Given the description of an element on the screen output the (x, y) to click on. 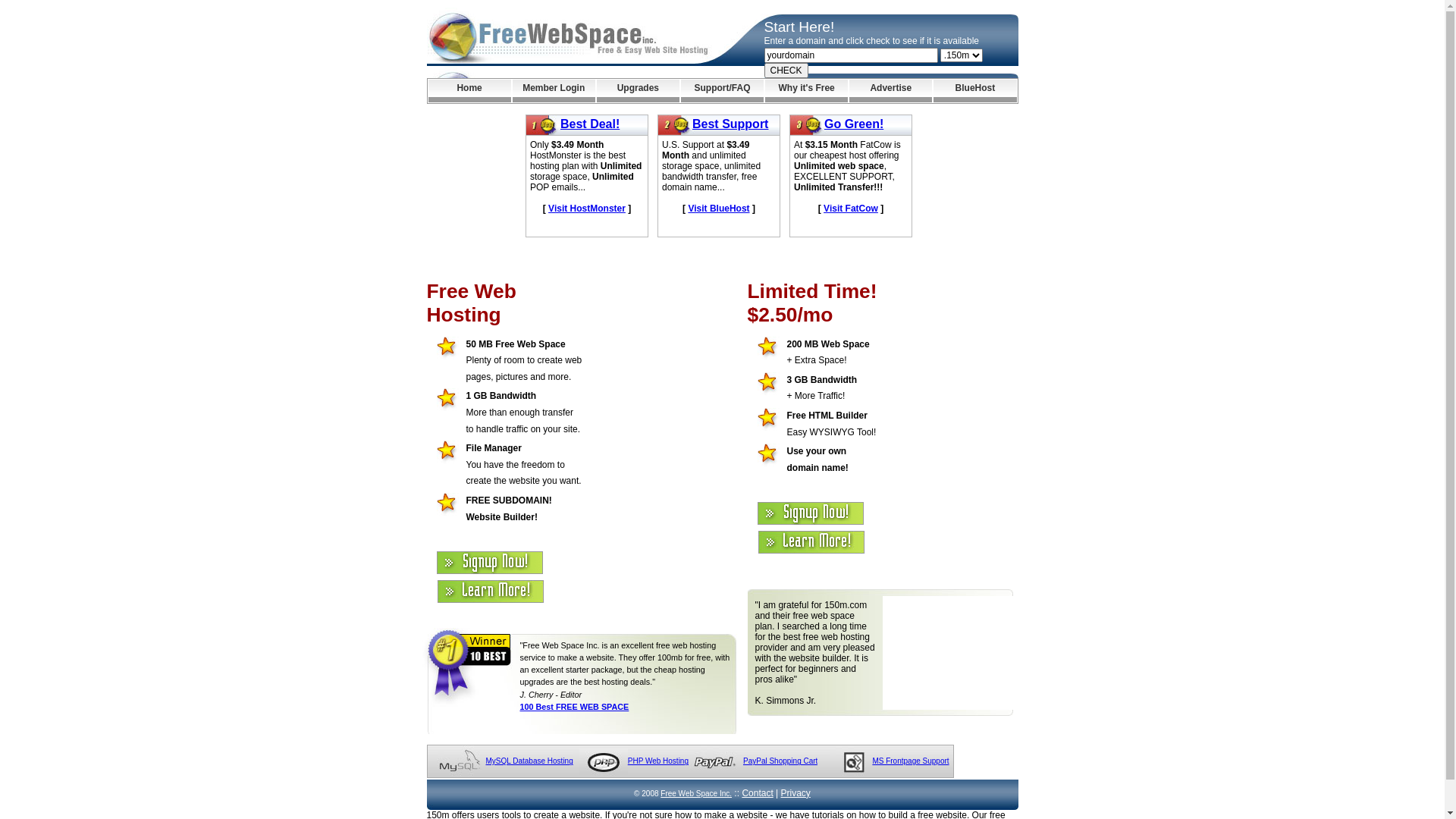
PayPal Shopping Cart Element type: text (780, 760)
Privacy Element type: text (795, 792)
Support/FAQ Element type: text (721, 90)
Advertise Element type: text (890, 90)
CHECK Element type: text (786, 70)
MySQL Database Hosting Element type: text (528, 760)
PHP Web Hosting Element type: text (657, 760)
BlueHost Element type: text (974, 90)
MS Frontpage Support Element type: text (910, 760)
Contact Element type: text (756, 792)
Home Element type: text (468, 90)
Member Login Element type: text (553, 90)
100 Best FREE WEB SPACE Element type: text (574, 706)
Upgrades Element type: text (637, 90)
Free Web Space Inc. Element type: text (695, 793)
Why it's Free Element type: text (806, 90)
